Given the description of an element on the screen output the (x, y) to click on. 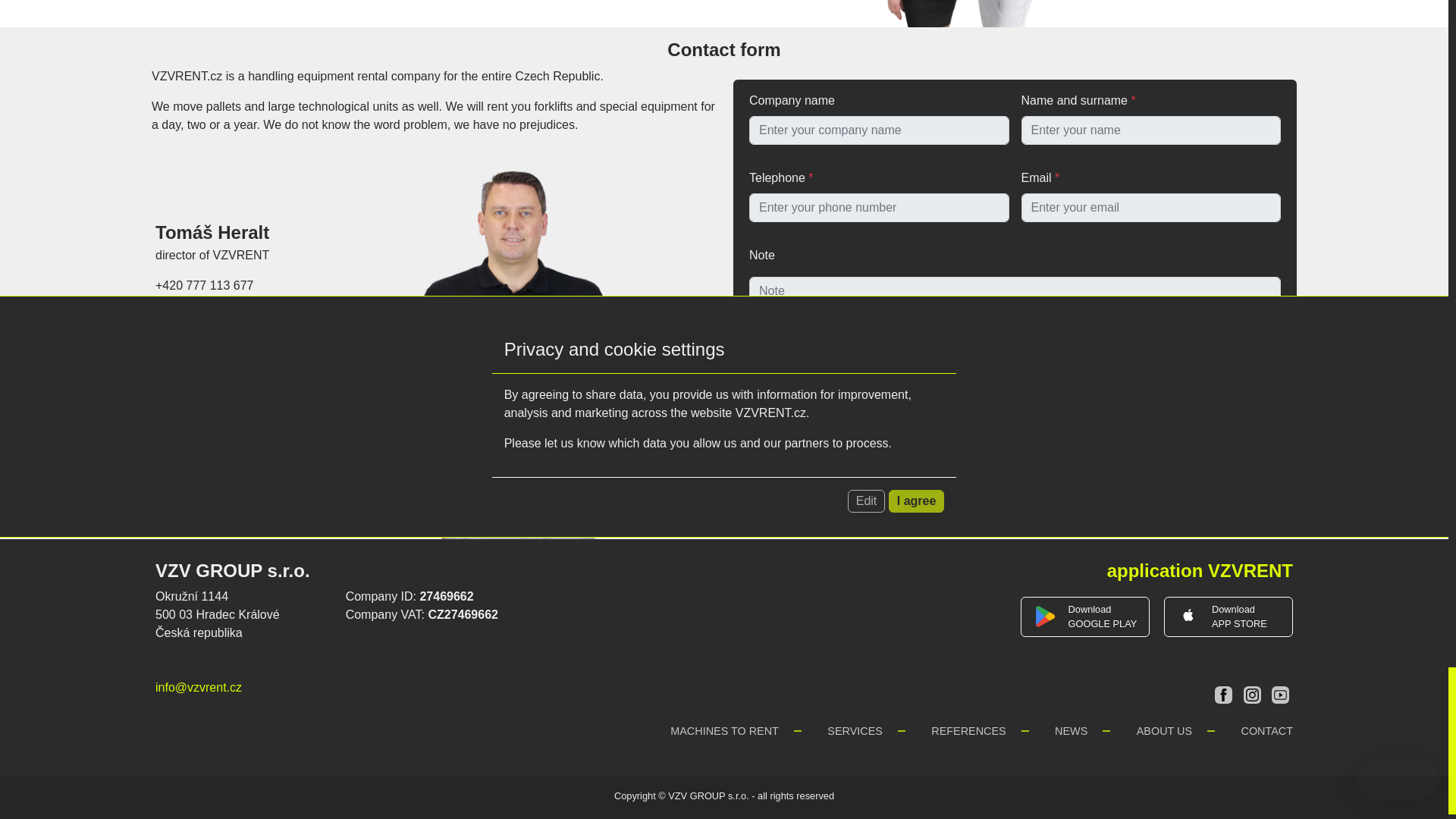
on (755, 423)
